Given the description of an element on the screen output the (x, y) to click on. 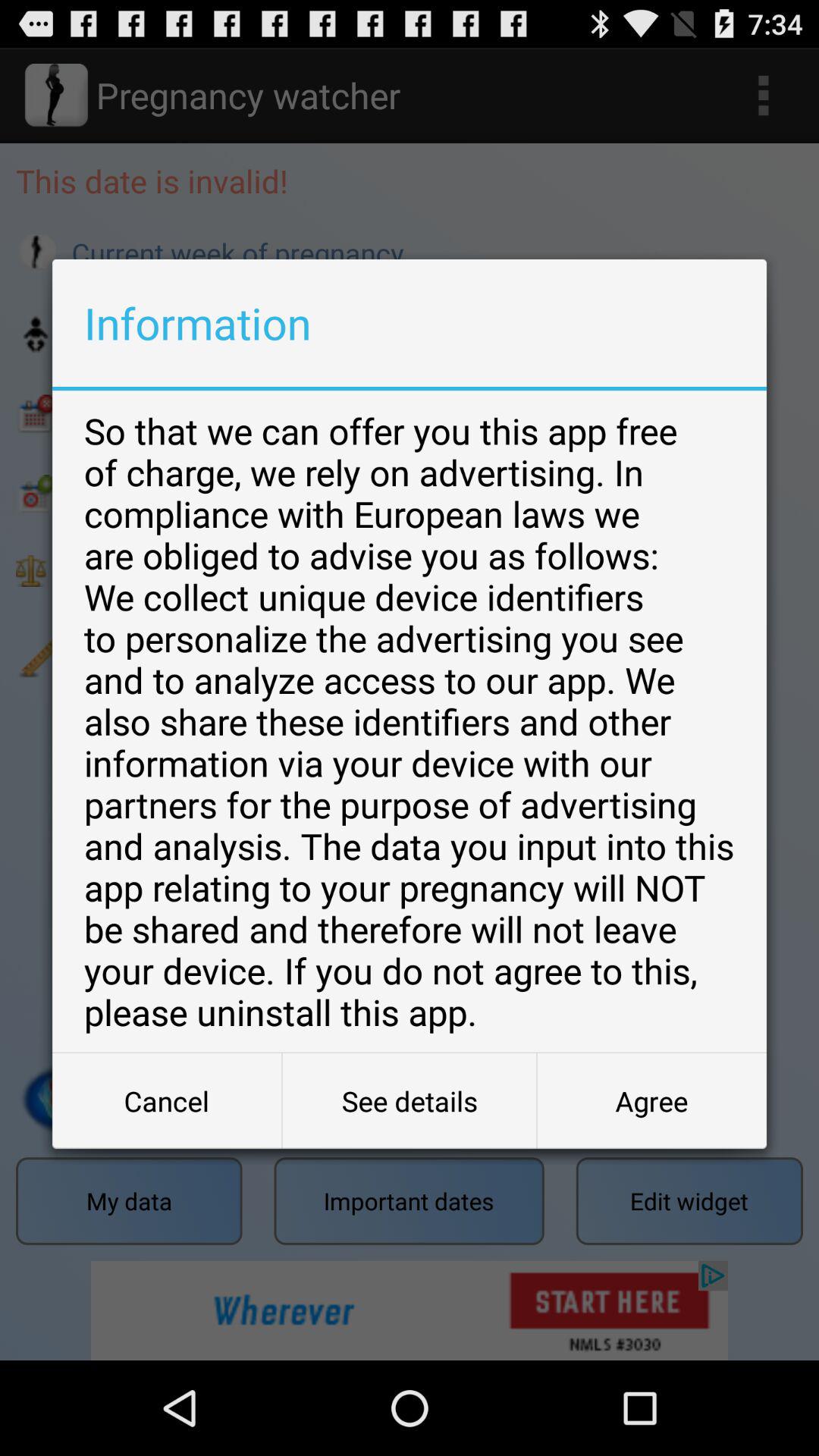
open the icon at the bottom right corner (651, 1100)
